Given the description of an element on the screen output the (x, y) to click on. 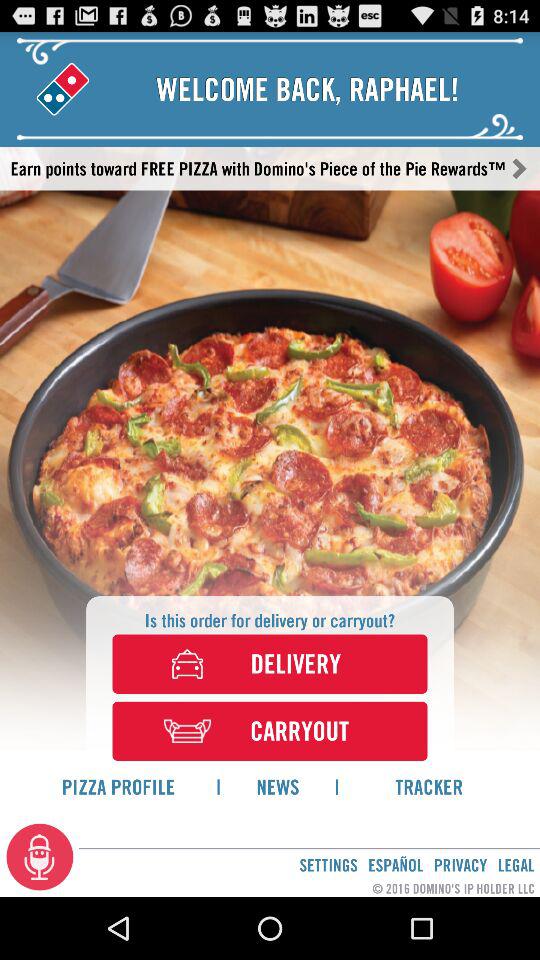
turn on the app to the left of legal app (460, 864)
